Given the description of an element on the screen output the (x, y) to click on. 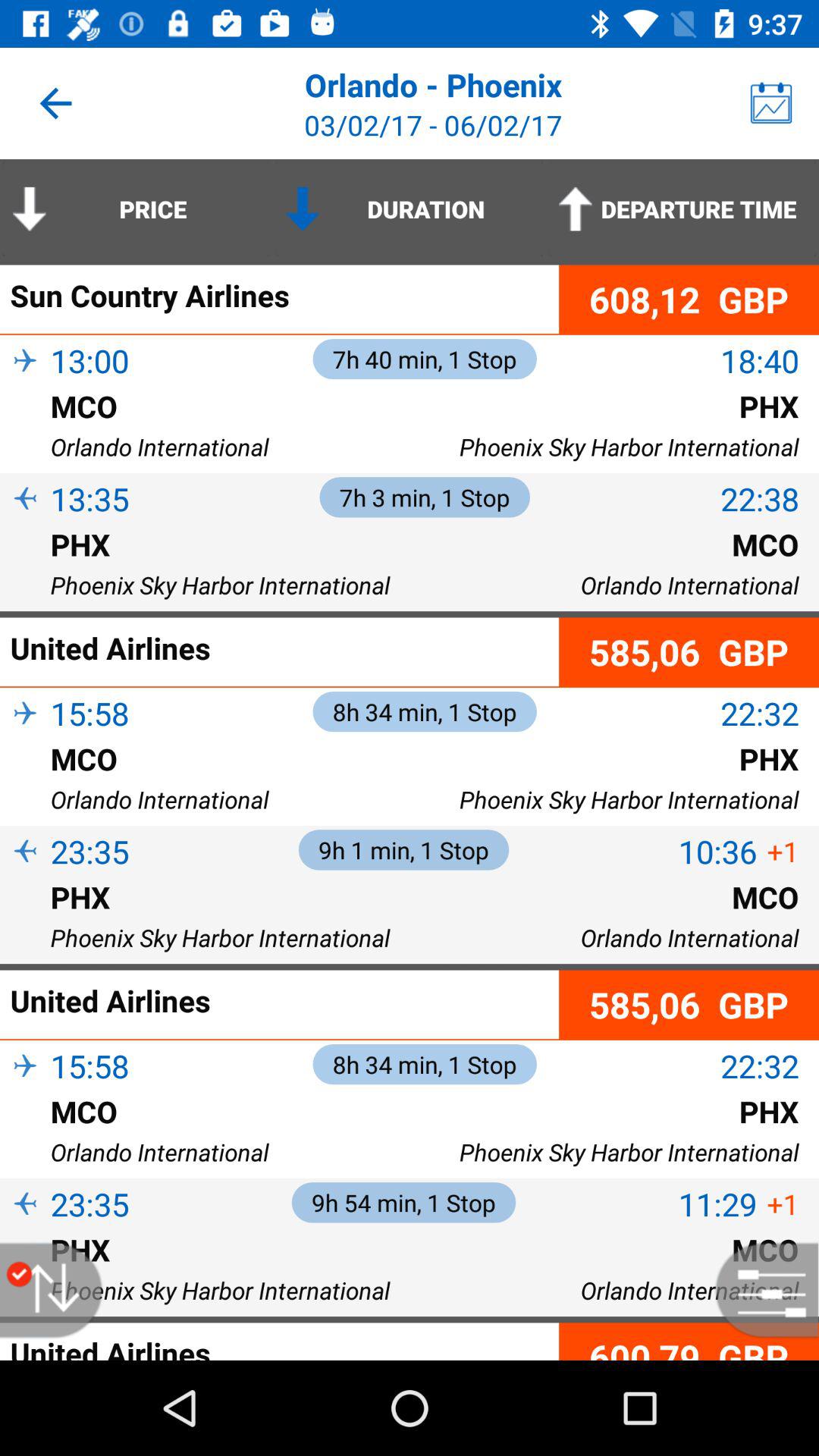
swap outbound and inbound (59, 1290)
